Given the description of an element on the screen output the (x, y) to click on. 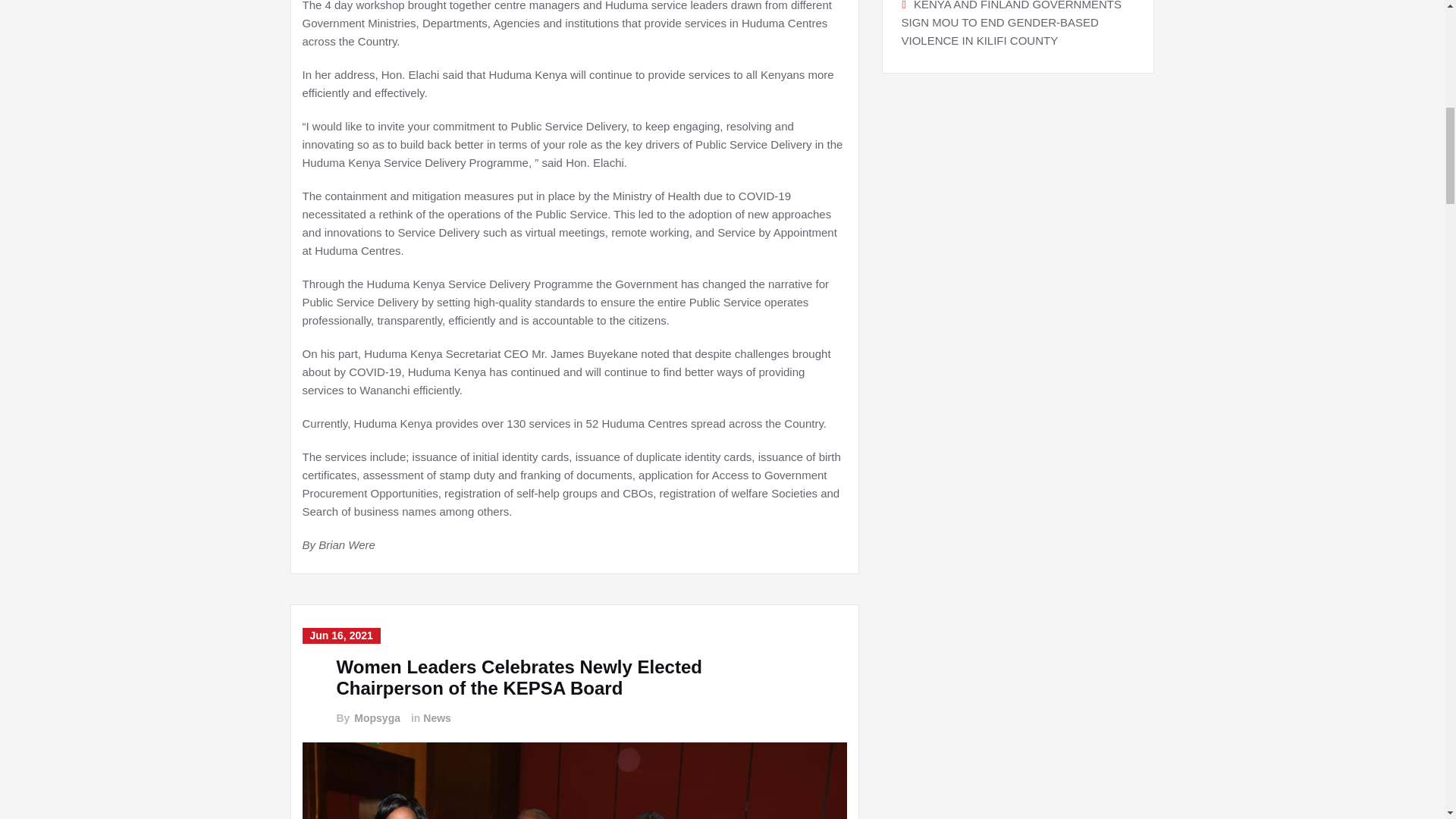
Jun 16, 2021 (340, 635)
Mopsyga (376, 718)
